Given the description of an element on the screen output the (x, y) to click on. 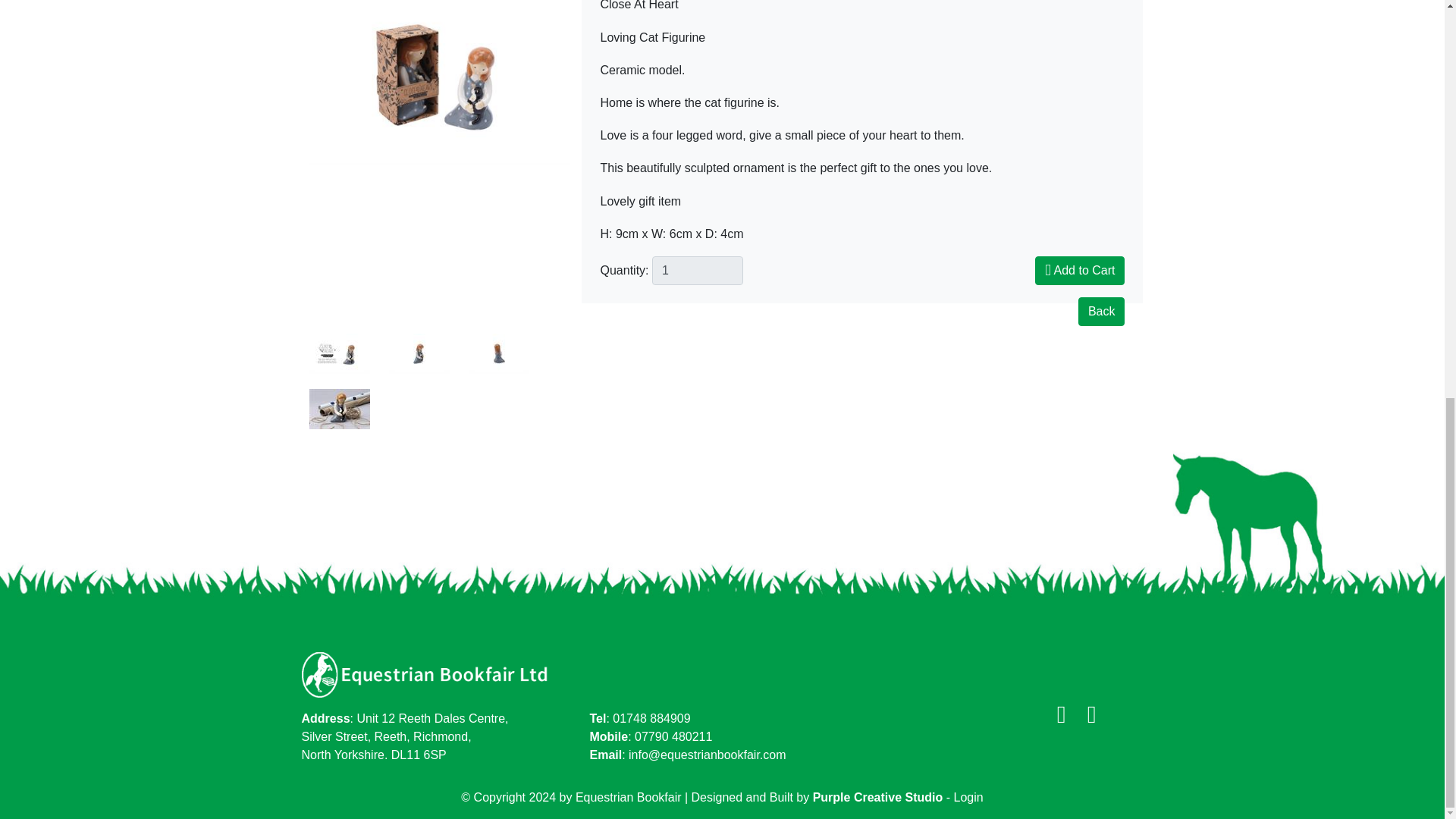
1 (697, 270)
Login (967, 797)
